Given the description of an element on the screen output the (x, y) to click on. 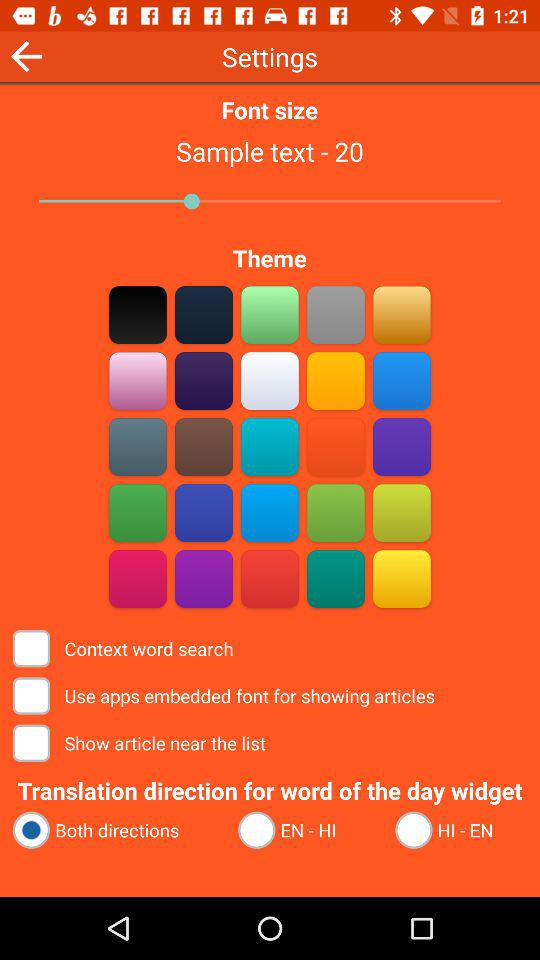
make purple the background color (401, 446)
